Given the description of an element on the screen output the (x, y) to click on. 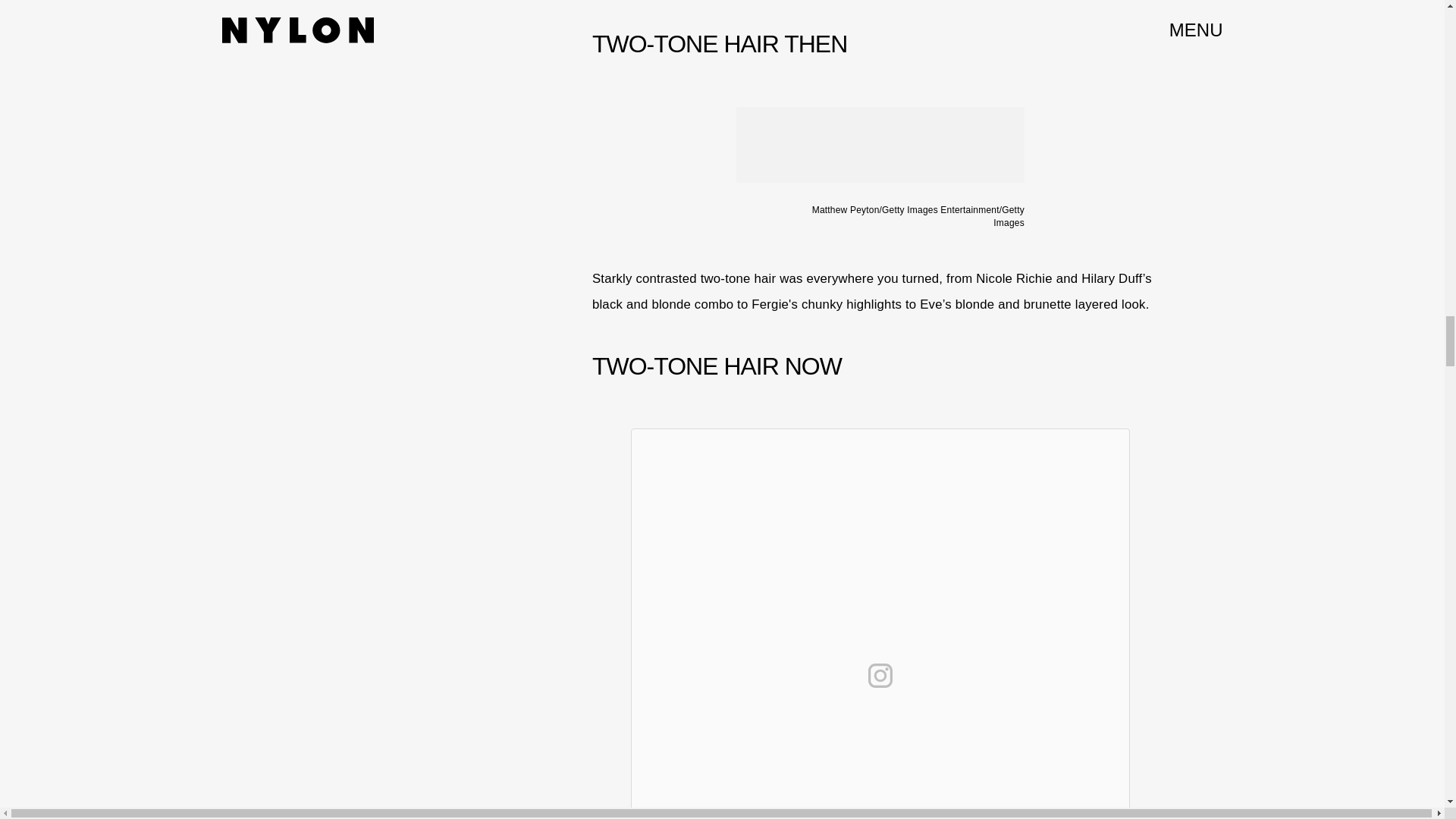
View on Instagram (879, 675)
